Given the description of an element on the screen output the (x, y) to click on. 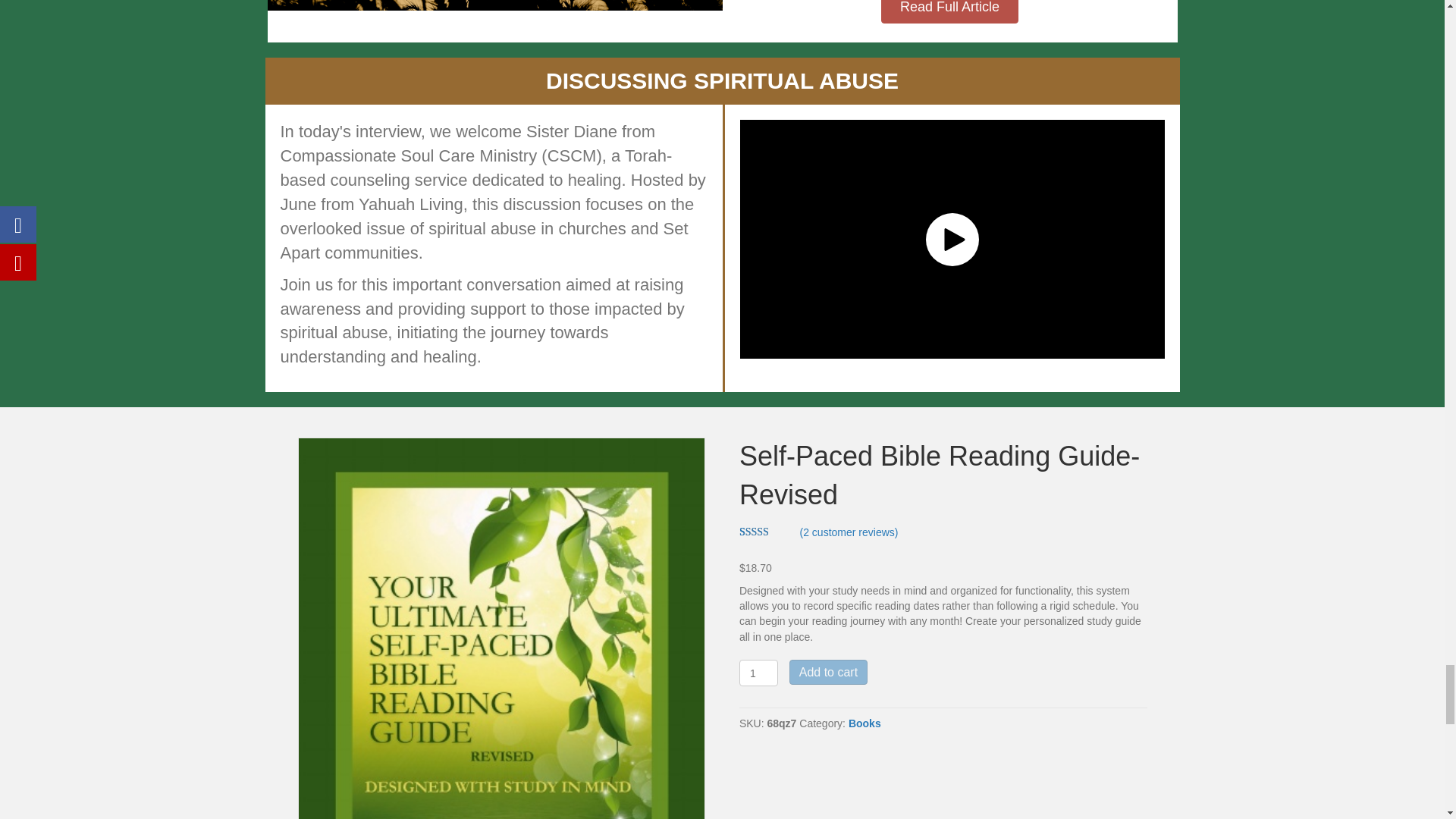
1 (758, 673)
Click Here (948, 11)
